Given the description of an element on the screen output the (x, y) to click on. 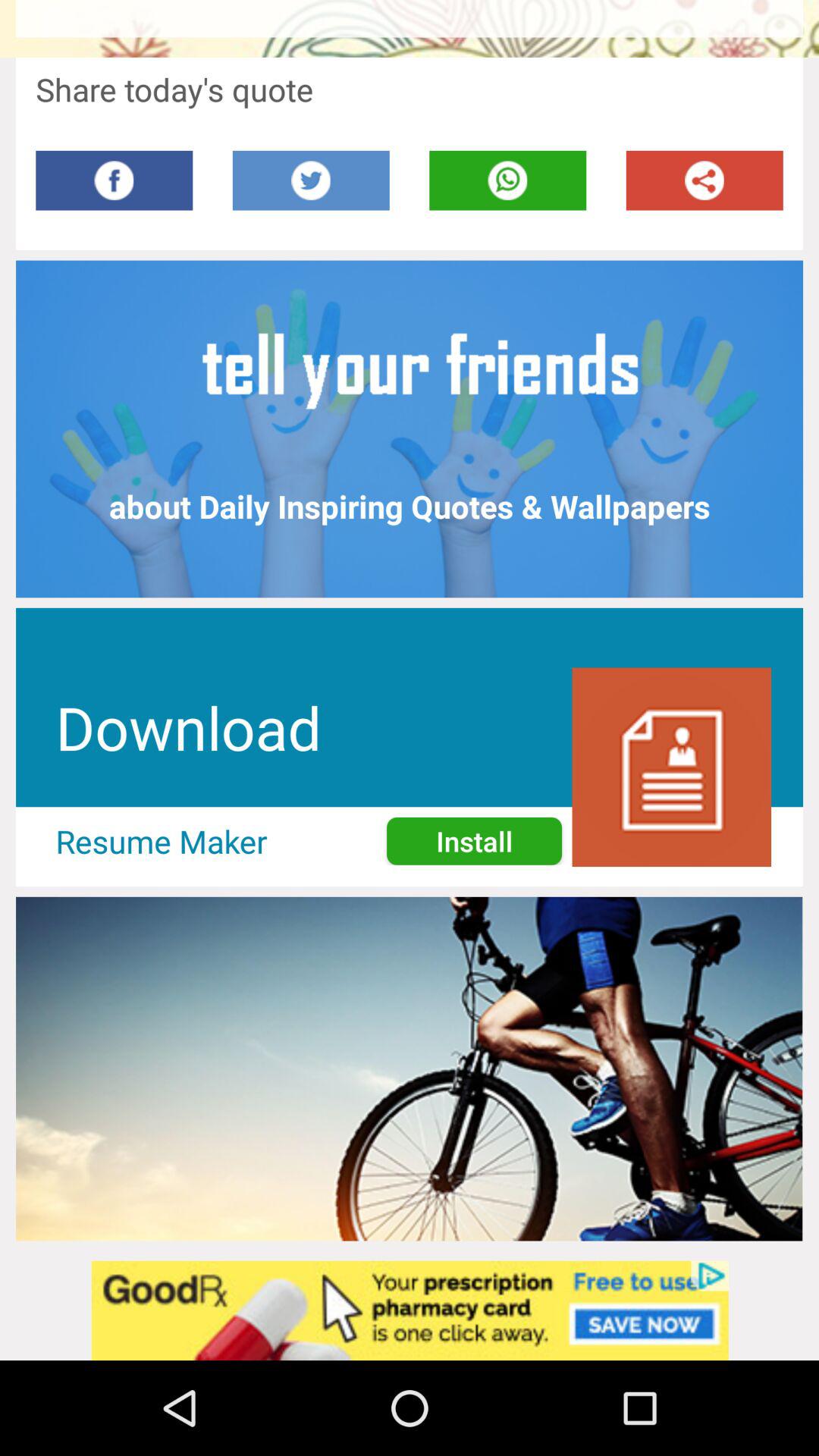
for adverisment (409, 1310)
